Given the description of an element on the screen output the (x, y) to click on. 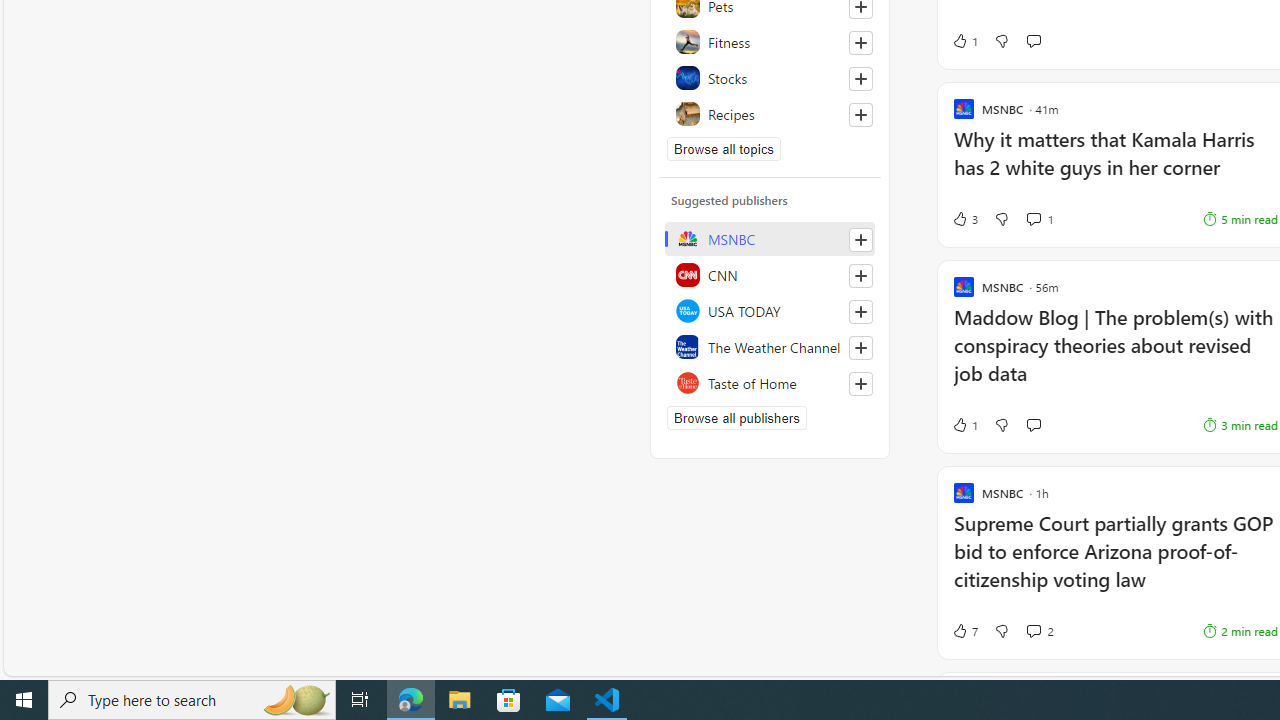
View comments 1 Comment (1039, 219)
Fitness (770, 42)
View comments 2 Comment (1033, 630)
USA TODAY (770, 310)
Browse all topics (724, 148)
Follow this topic (860, 114)
Follow this topic (860, 114)
3 Like (964, 219)
7 Like (964, 630)
MSNBC (770, 238)
Follow this source (860, 384)
